Given the description of an element on the screen output the (x, y) to click on. 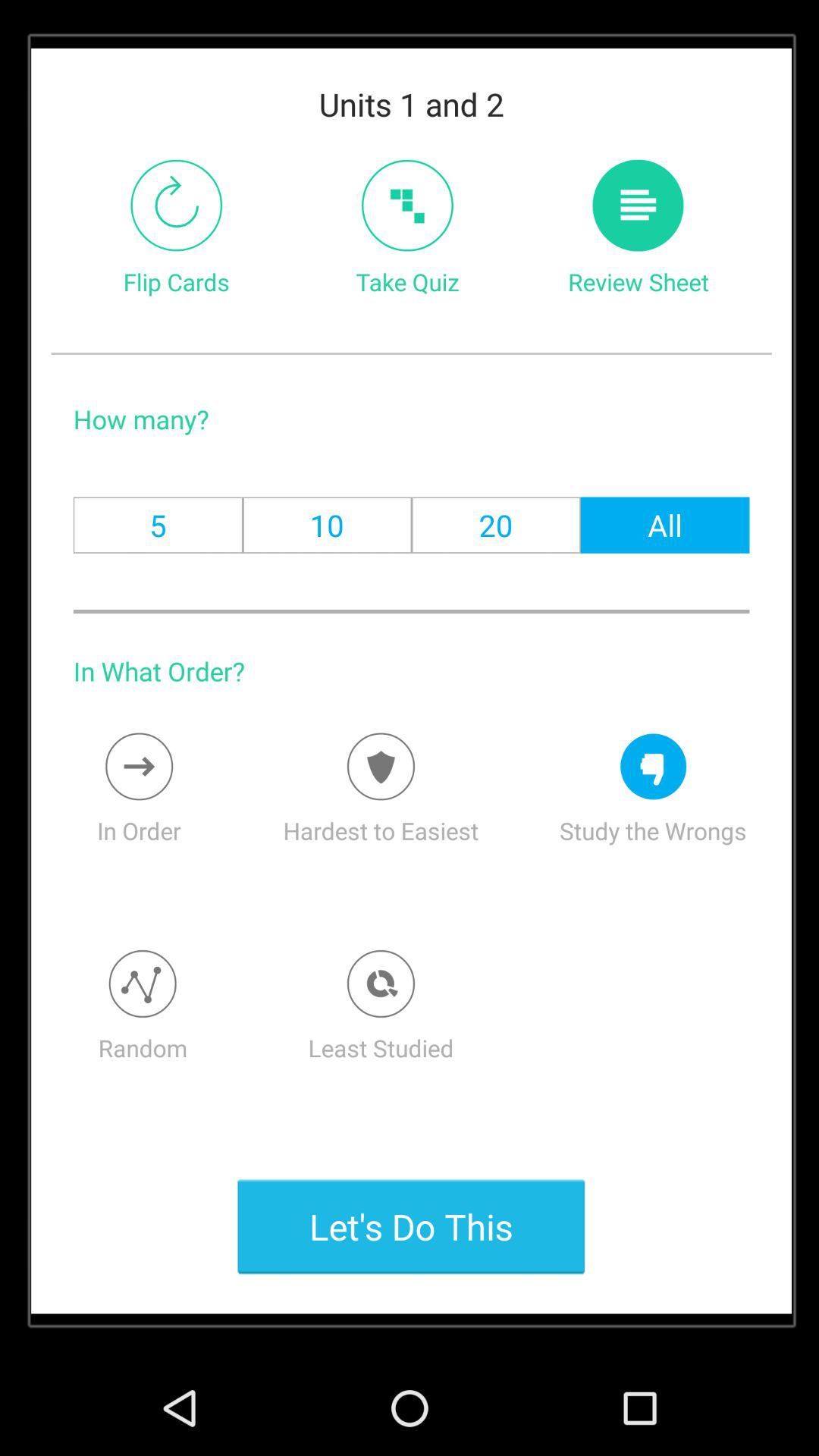
turn flip cards study mode (176, 205)
